Given the description of an element on the screen output the (x, y) to click on. 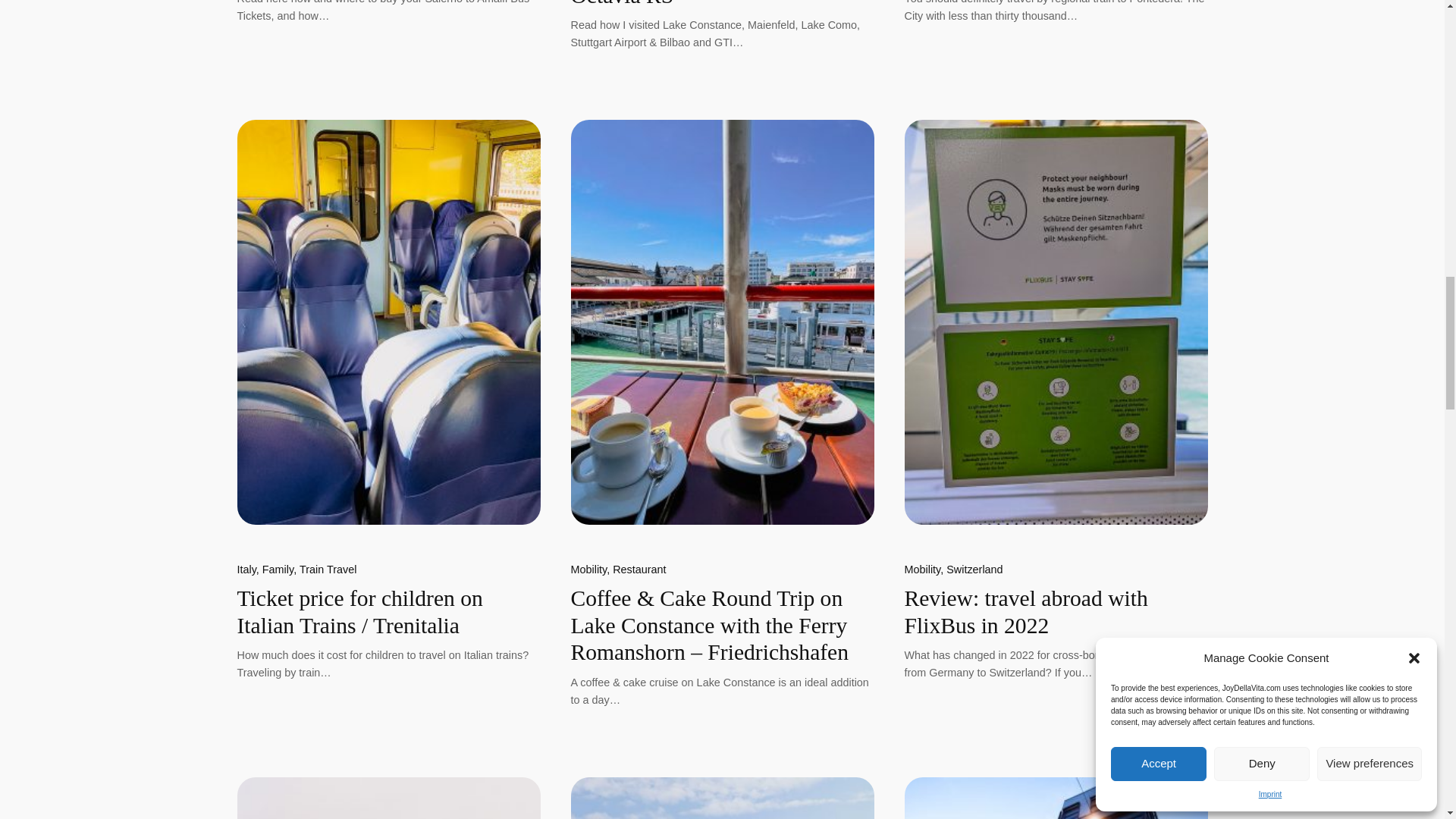
Review: travel abroad with FlixBus in 2022 18 (1055, 321)
Volvo C40 Recharge Pure Electric - test drive review 19 (387, 798)
Volvo Cars to open new 700-job tech hub in Stockholm 31 (1055, 798)
